Given the description of an element on the screen output the (x, y) to click on. 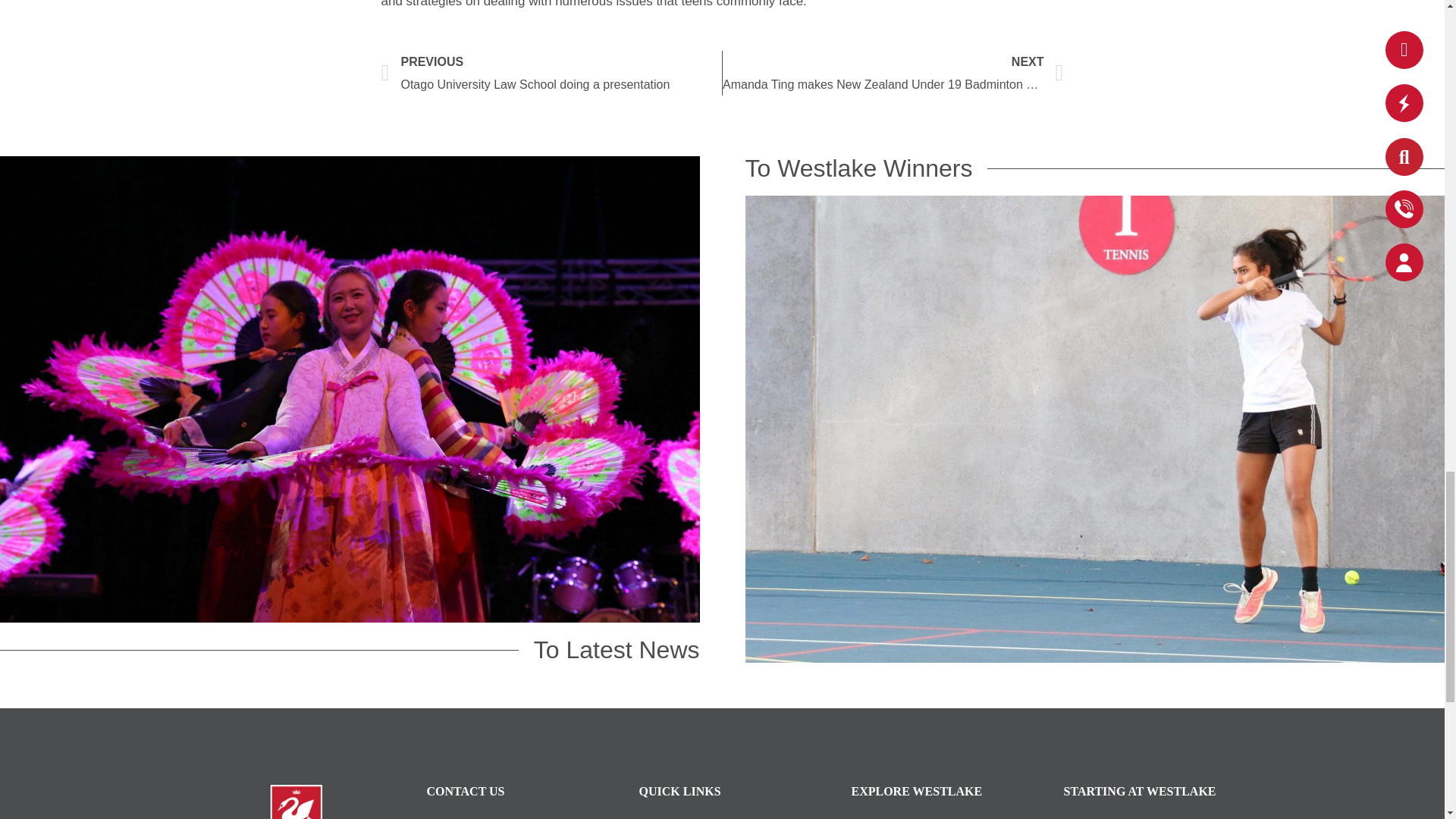
To Latest News (609, 649)
To Westlake Winners (865, 167)
